Given the description of an element on the screen output the (x, y) to click on. 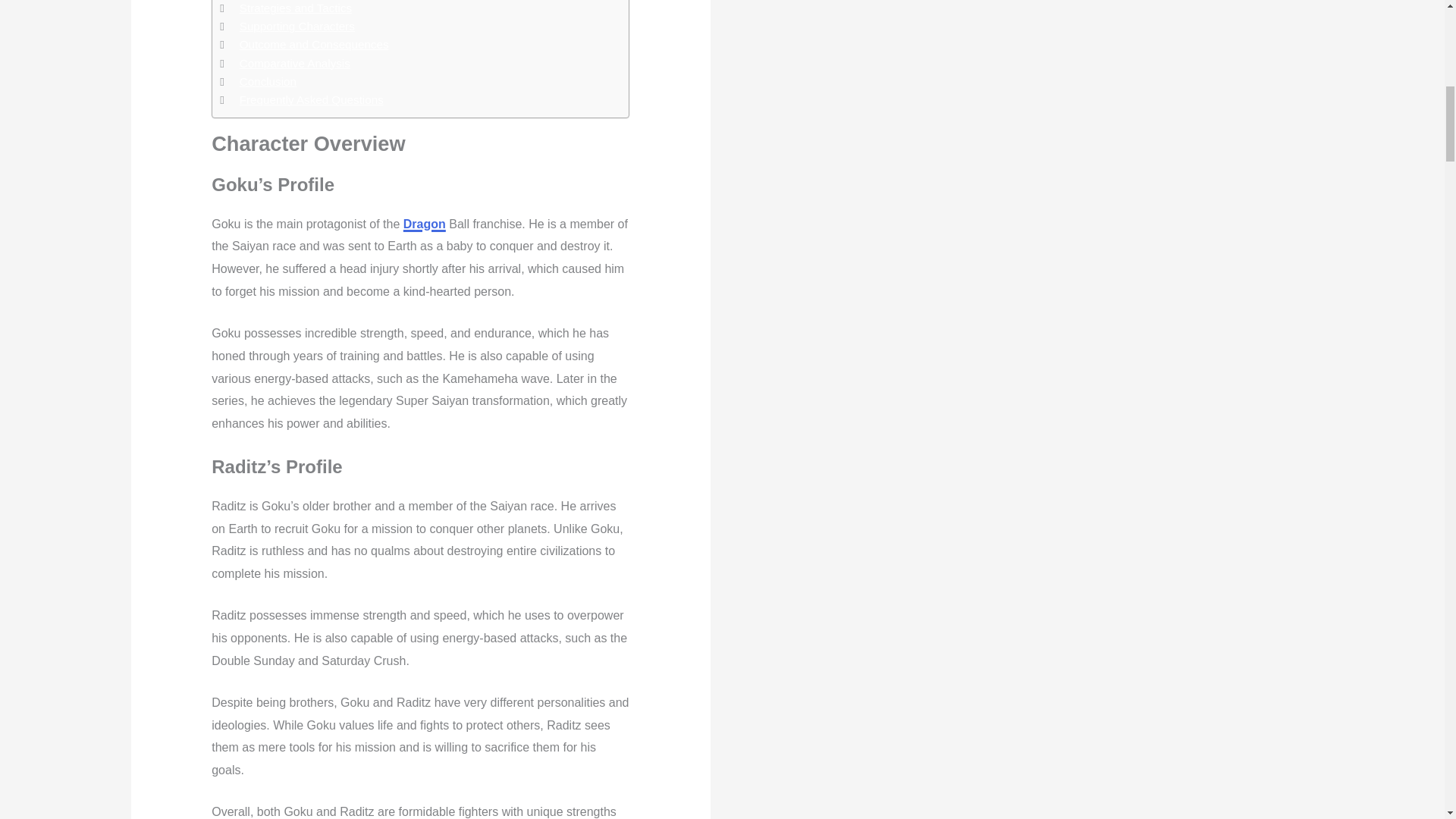
Strategies and Tactics (296, 8)
Supporting Characters (297, 26)
Strategies and Tactics (296, 8)
Frequently Asked Questions (312, 99)
Dragon (424, 223)
Dragon (424, 223)
Conclusion (268, 81)
Conclusion (268, 81)
Frequently Asked Questions (312, 99)
Outcome and Consequences (314, 45)
Supporting Characters (297, 26)
Comparative Analysis (295, 63)
Outcome and Consequences (314, 45)
Comparative Analysis (295, 63)
